Given the description of an element on the screen output the (x, y) to click on. 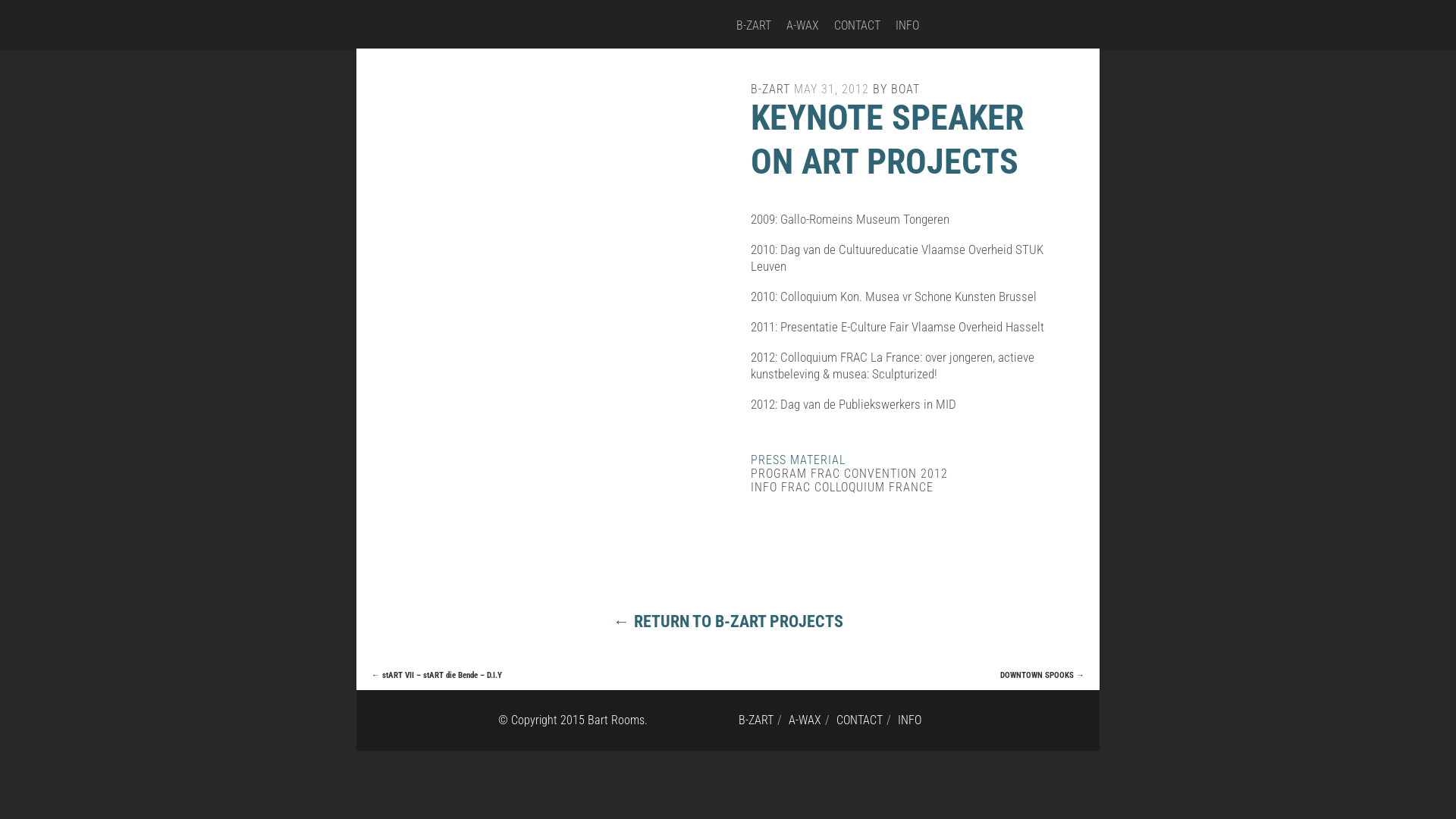
BY BOAT Element type: text (895, 88)
CONTACT Element type: text (859, 719)
INFO Element type: text (909, 719)
Bart Rooms Element type: hover (542, 27)
A-WAX Element type: text (802, 25)
B-ZART Element type: text (753, 25)
CONTACT Element type: text (857, 25)
A-WAX Element type: text (804, 719)
INFO FRAC COLLOQUIUM FRANCE Element type: text (841, 487)
INFO Element type: text (907, 25)
B-ZART Element type: text (770, 88)
B-ZART Element type: text (755, 719)
PROGRAM FRAC CONVENTION 2012 Element type: text (848, 473)
